Given the description of an element on the screen output the (x, y) to click on. 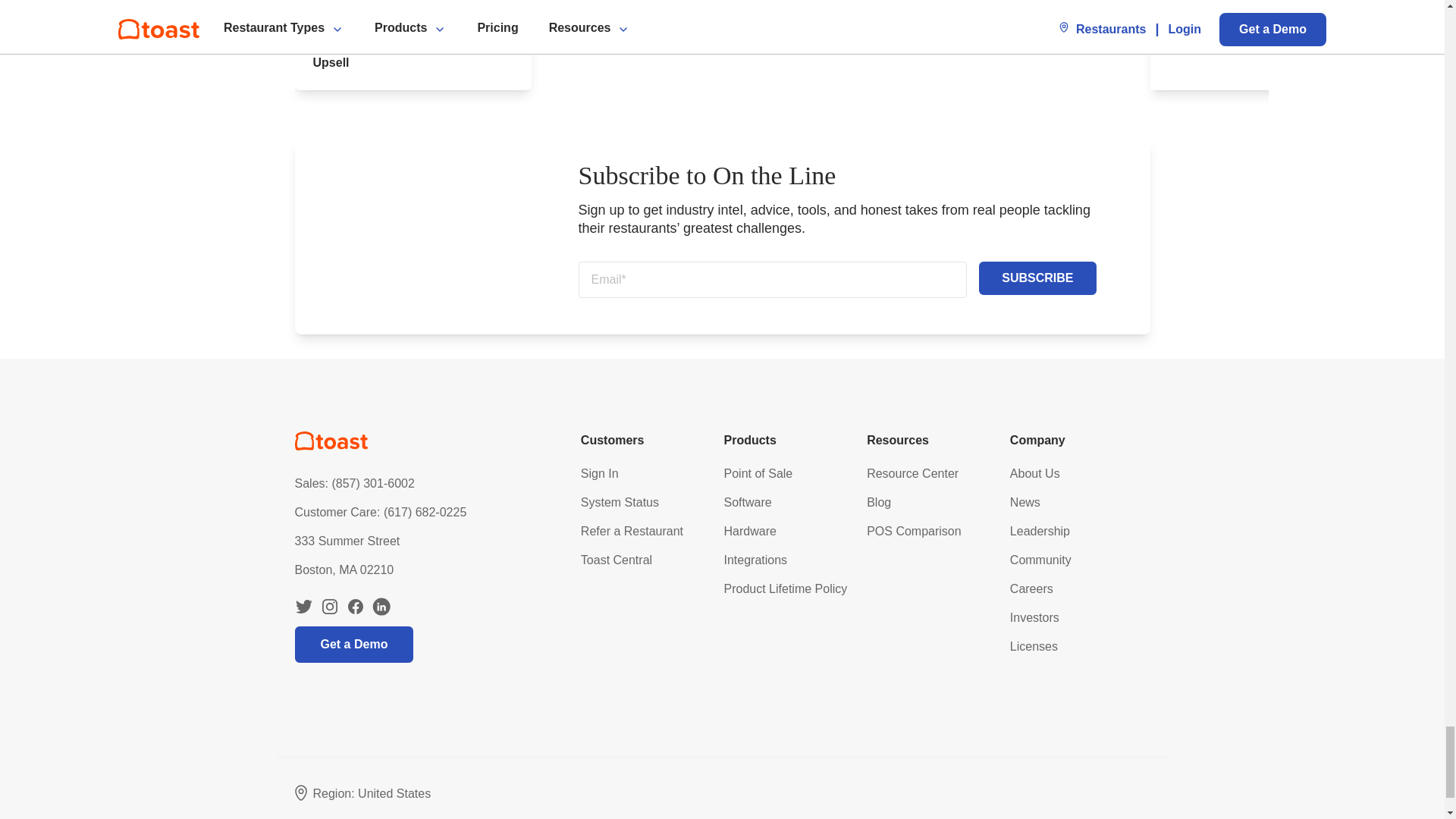
Toast on Instagram (328, 606)
Toast on Facebook (355, 606)
Toast on LinkedIn (380, 606)
Toast on Twitter (303, 606)
